Given the description of an element on the screen output the (x, y) to click on. 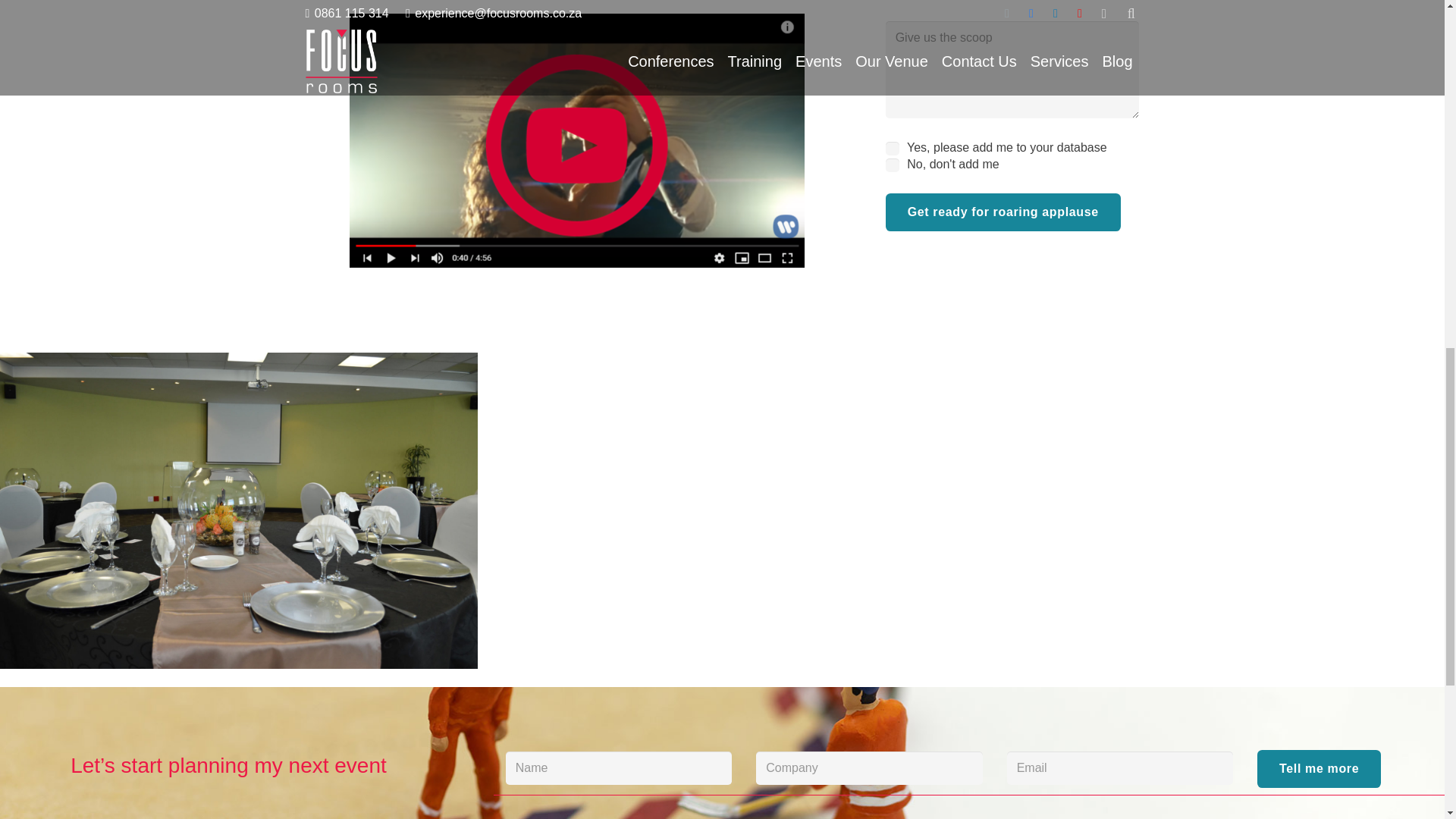
Back to top (1413, 26)
Tell me more (1318, 768)
No, don't add me (892, 164)
Yes, please add me to your database (892, 148)
Get ready for roaring applause (1003, 211)
